Given the description of an element on the screen output the (x, y) to click on. 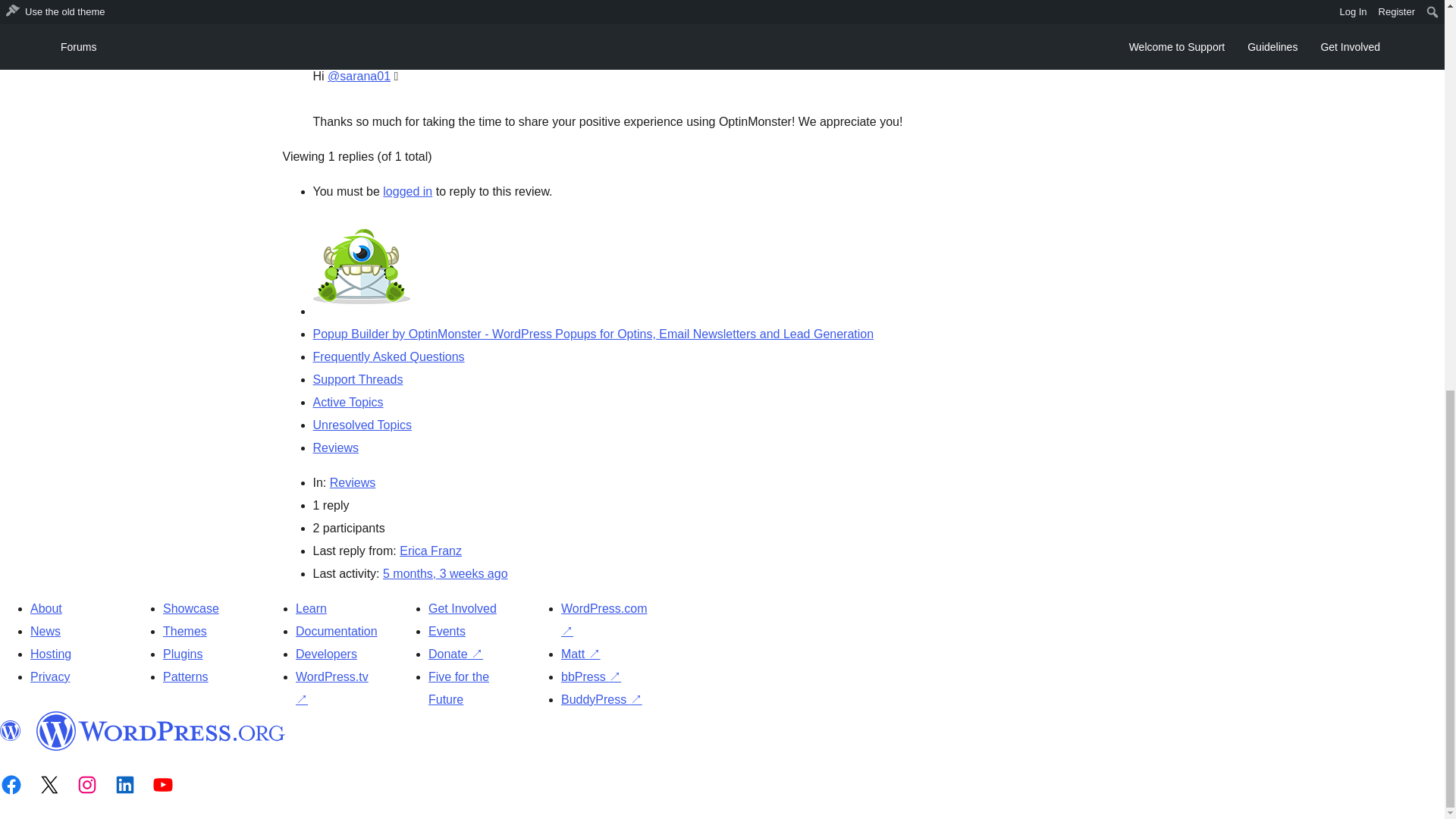
WordPress.org (160, 731)
February 19, 2024 at 4:12 pm (375, 41)
View Erica Franz's profile (429, 550)
WordPress.org (10, 731)
February 19, 2024 at 4:12 pm (445, 573)
